Given the description of an element on the screen output the (x, y) to click on. 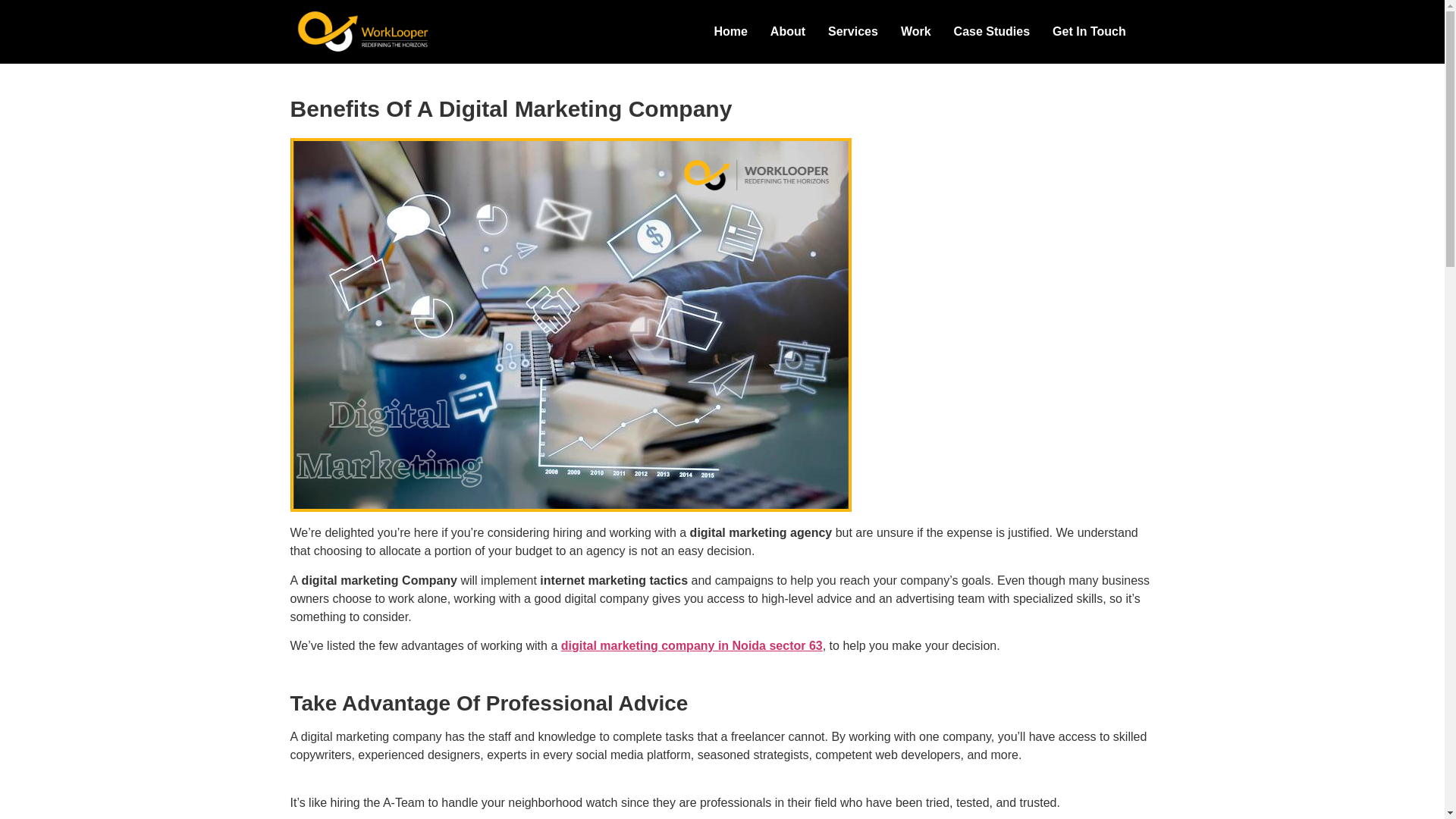
Services (852, 31)
Case Studies (991, 31)
Home (729, 31)
Work (915, 31)
Get In Touch (1089, 31)
digital marketing company in Noida sector 63 (691, 645)
About (787, 31)
